Given the description of an element on the screen output the (x, y) to click on. 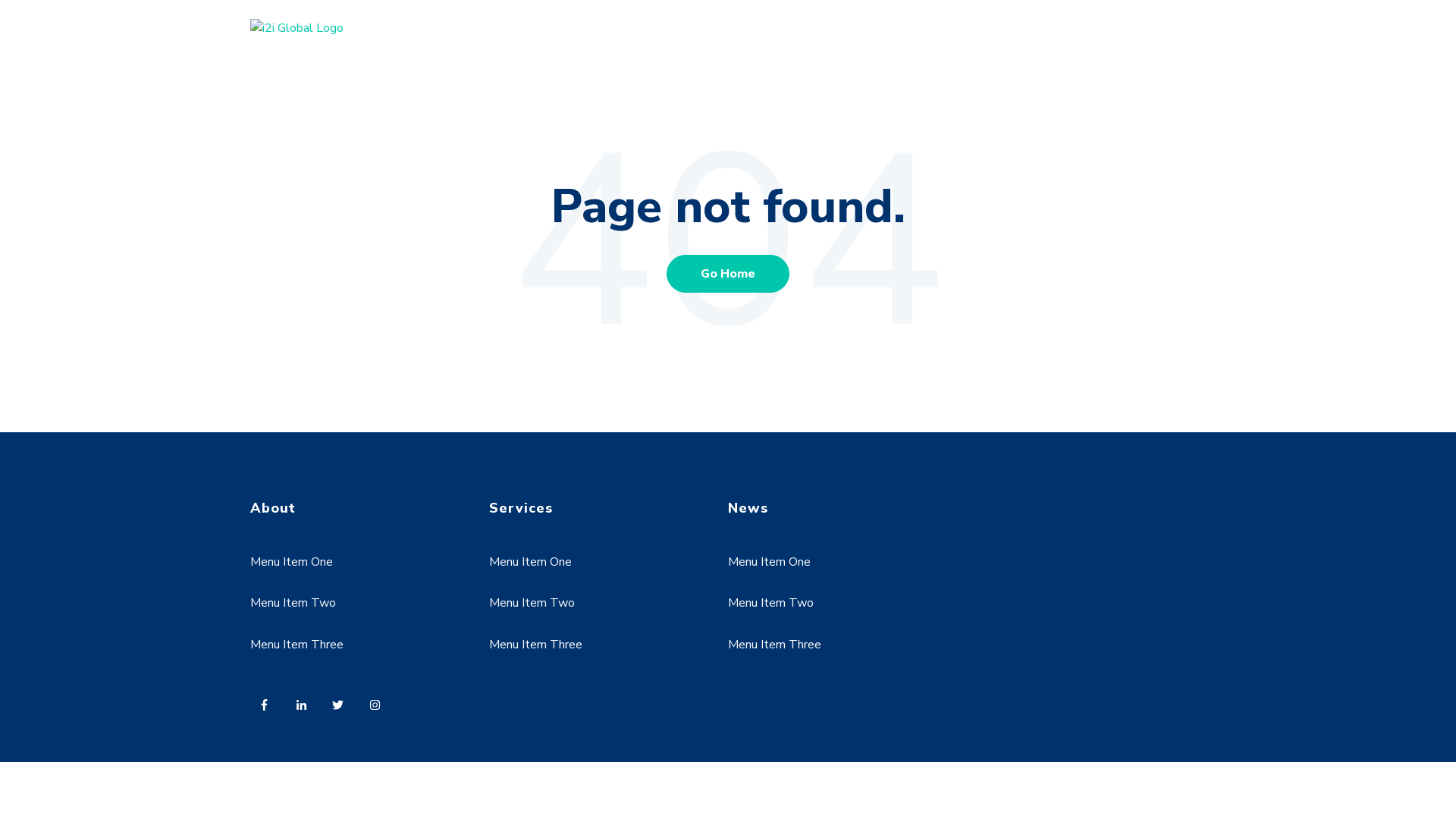
Menu Item Three Element type: text (296, 644)
Follow us on Instagram Element type: text (379, 708)
Menu Item Three Element type: text (774, 644)
i2i Global Logo Element type: hover (296, 27)
Menu Item One Element type: text (530, 561)
Menu Item One Element type: text (291, 561)
Menu Item Two Element type: text (770, 602)
Menu Item Two Element type: text (292, 602)
Menu Item Three Element type: text (535, 644)
Follow us on Twitter Element type: text (341, 708)
Menu Item Two Element type: text (531, 602)
Follow us on Facebook Element type: text (268, 708)
Go Home Element type: text (727, 273)
Menu Item One Element type: text (769, 561)
Follow us on LinkedIn Element type: text (305, 708)
